Given the description of an element on the screen output the (x, y) to click on. 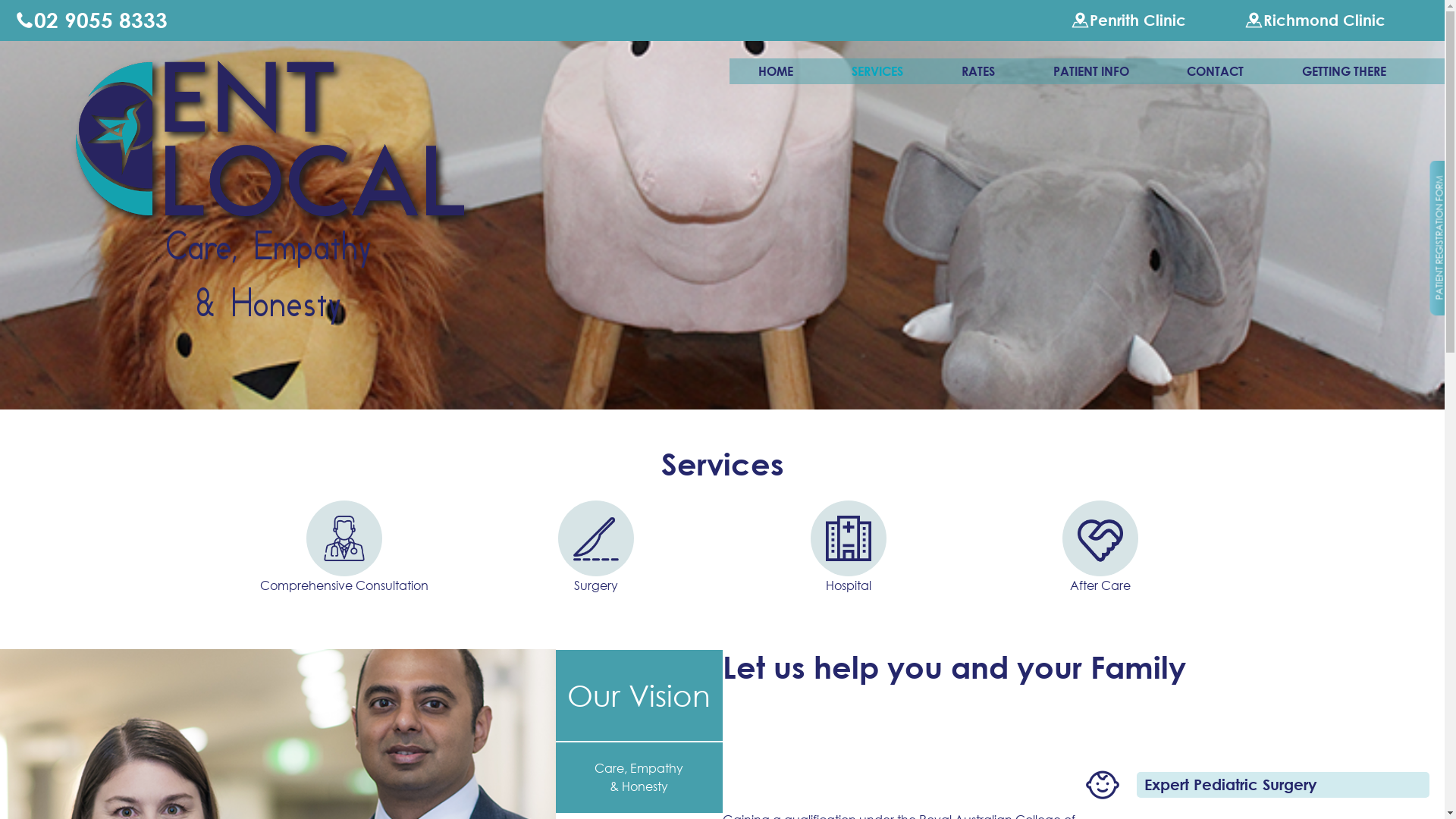
CONTACT Element type: text (1214, 70)
Penrith Clinic Element type: text (1127, 20)
RATES Element type: text (977, 70)
SERVICES Element type: text (877, 70)
Our Vision Element type: text (638, 695)
PATIENT INFO Element type: text (1091, 70)
HOME Element type: text (775, 70)
Richmond Clinic Element type: text (1314, 20)
02 9055 8333 Element type: text (91, 20)
Care, Empathy
& Honesty Element type: text (638, 776)
GETTING THERE Element type: text (1344, 70)
